Given the description of an element on the screen output the (x, y) to click on. 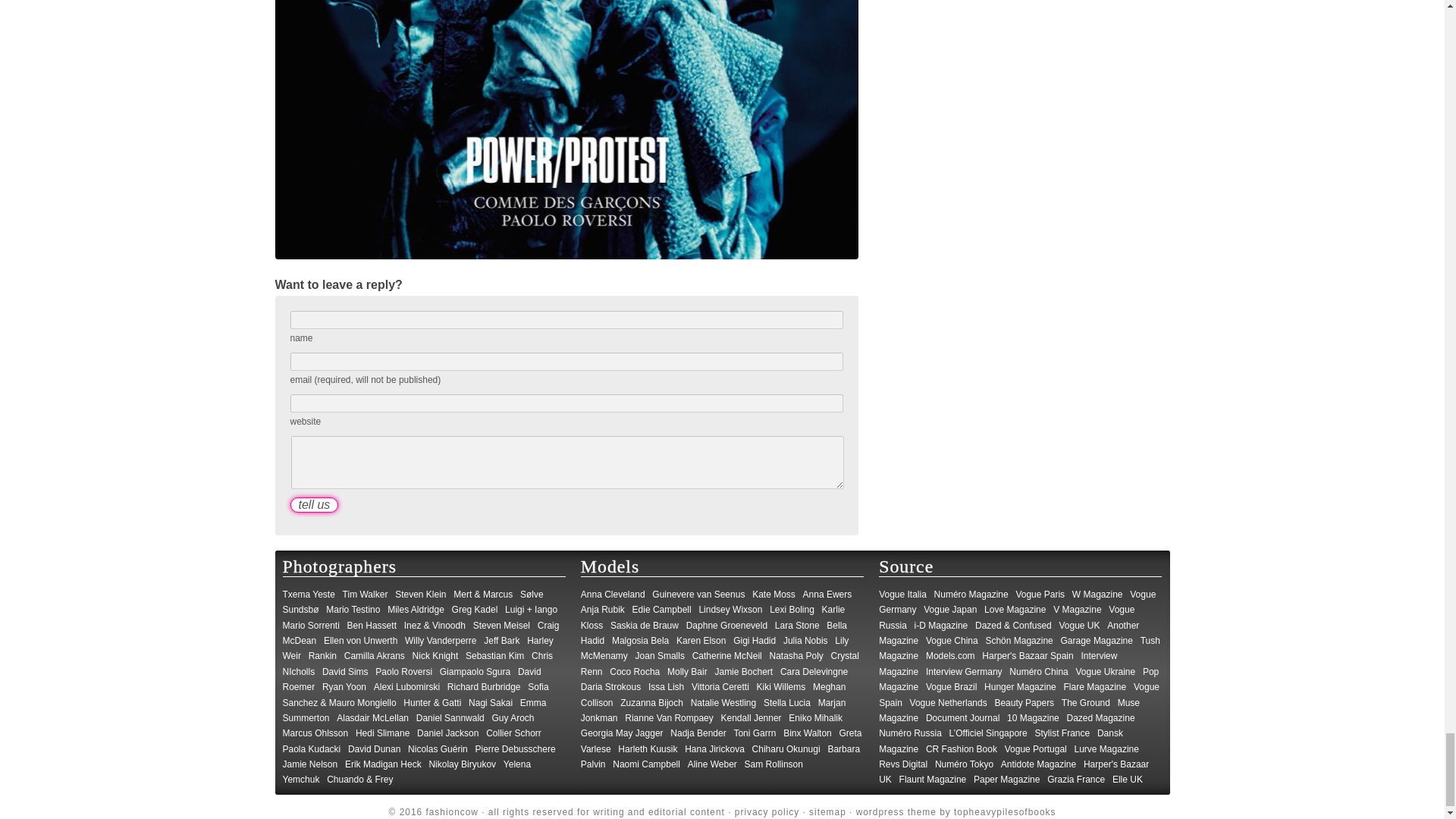
tell us (313, 504)
tell us (313, 504)
